Given the description of an element on the screen output the (x, y) to click on. 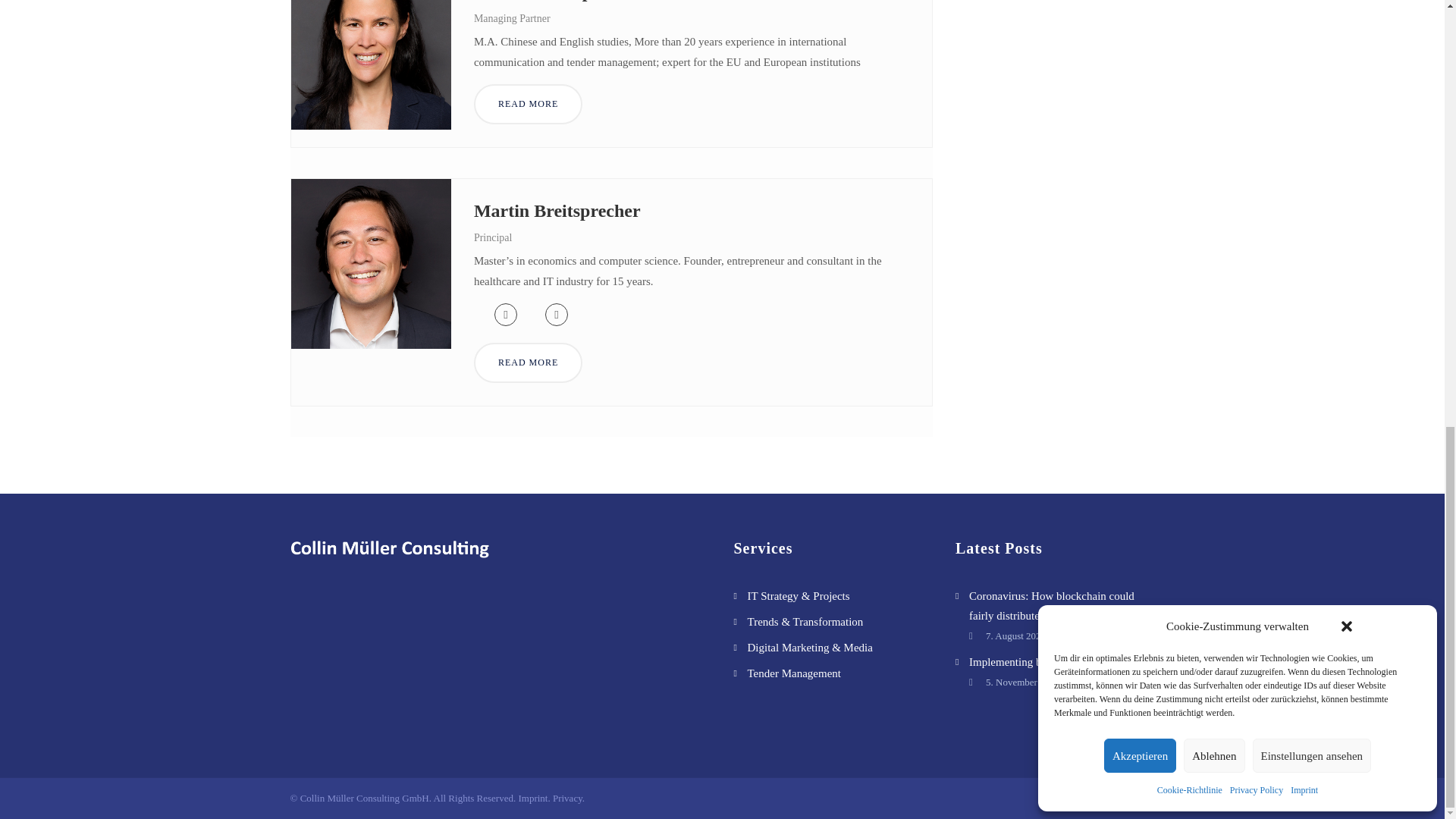
READ MORE (528, 363)
Martin Breitsprecher (557, 210)
READ MORE (528, 104)
